Given the description of an element on the screen output the (x, y) to click on. 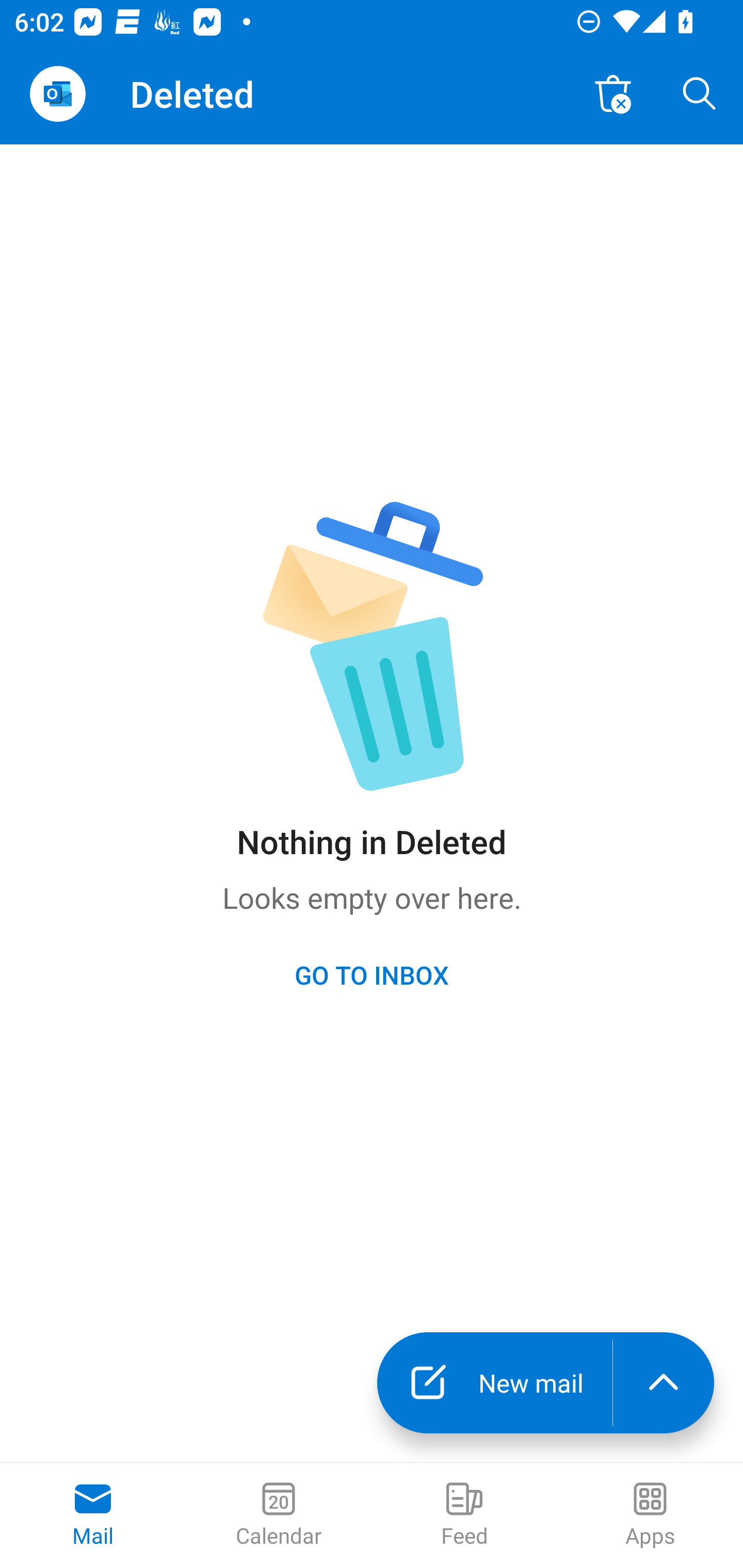
Empty Deleted (612, 93)
Search, ,  (699, 93)
Open Navigation Drawer (57, 94)
GO TO INBOX (371, 974)
New mail (494, 1382)
launch the extended action menu (663, 1382)
Calendar (278, 1515)
Feed (464, 1515)
Apps (650, 1515)
